Given the description of an element on the screen output the (x, y) to click on. 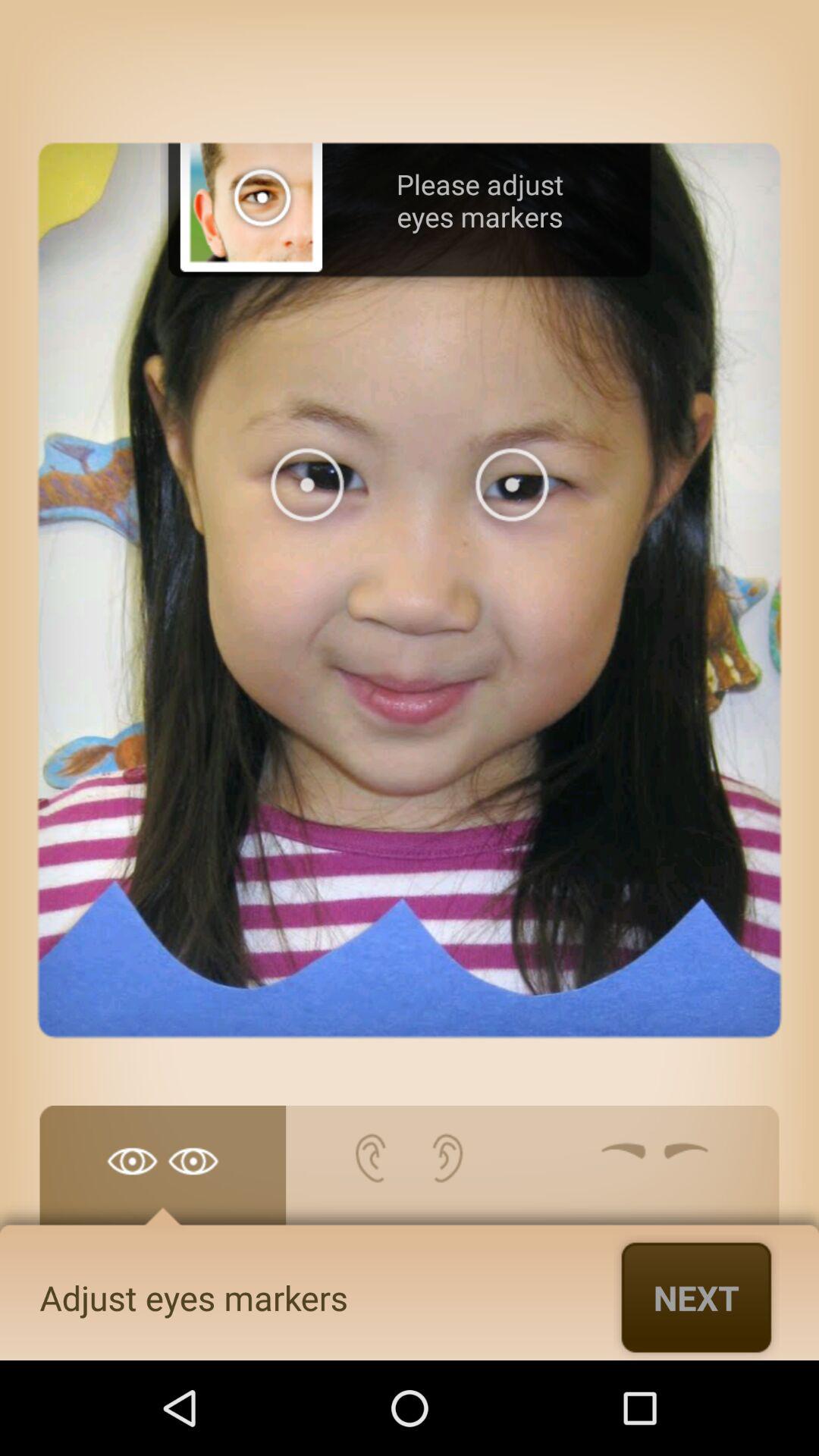
open app next to adjust eyes markers item (696, 1297)
